Given the description of an element on the screen output the (x, y) to click on. 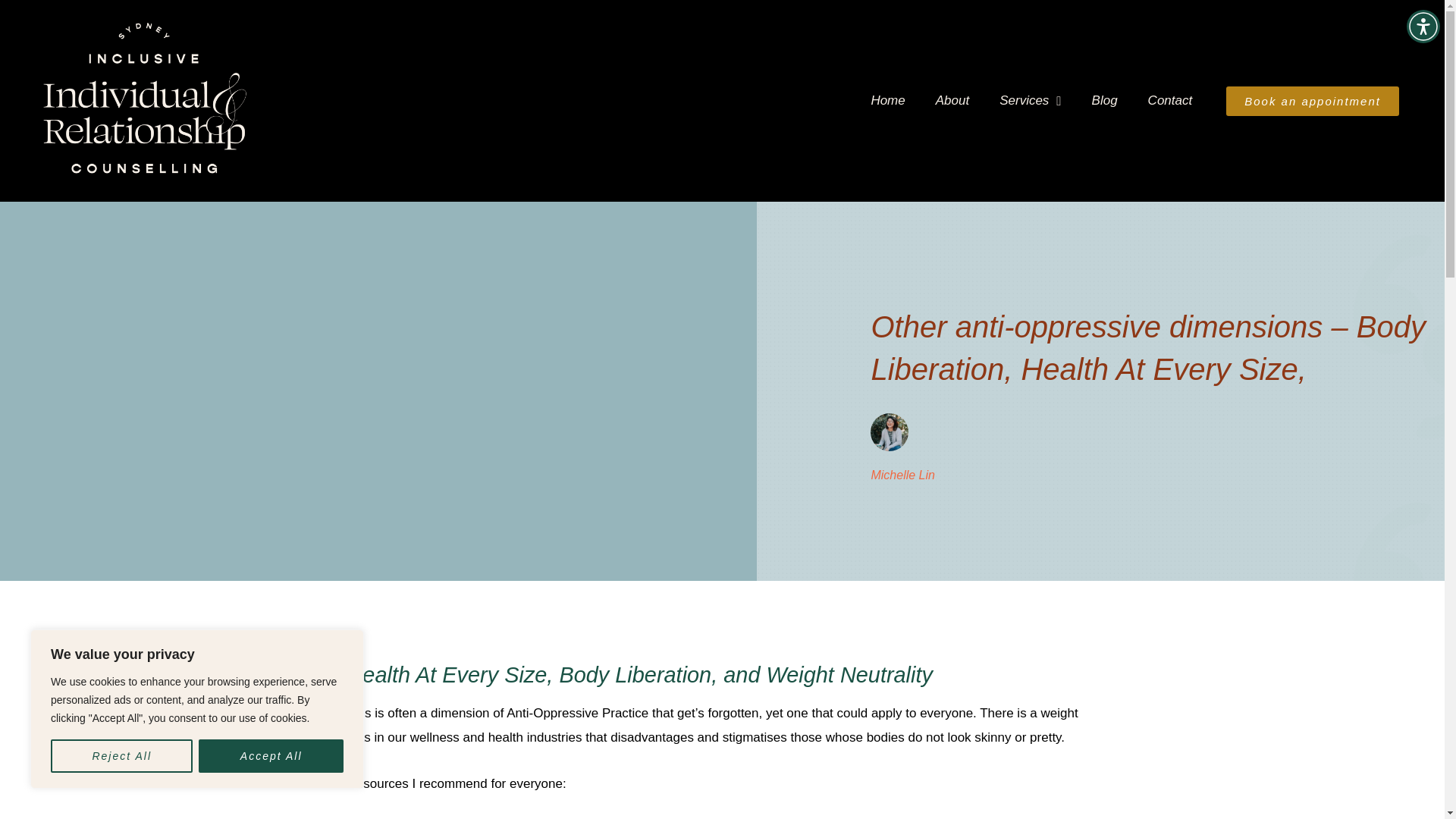
Reject All (121, 756)
About (952, 100)
Accessibility Menu (1422, 26)
Accept All (270, 756)
Book an appointment (1312, 101)
Services (1029, 100)
Blog (1104, 100)
Home (888, 100)
Contact (1170, 100)
